Given the description of an element on the screen output the (x, y) to click on. 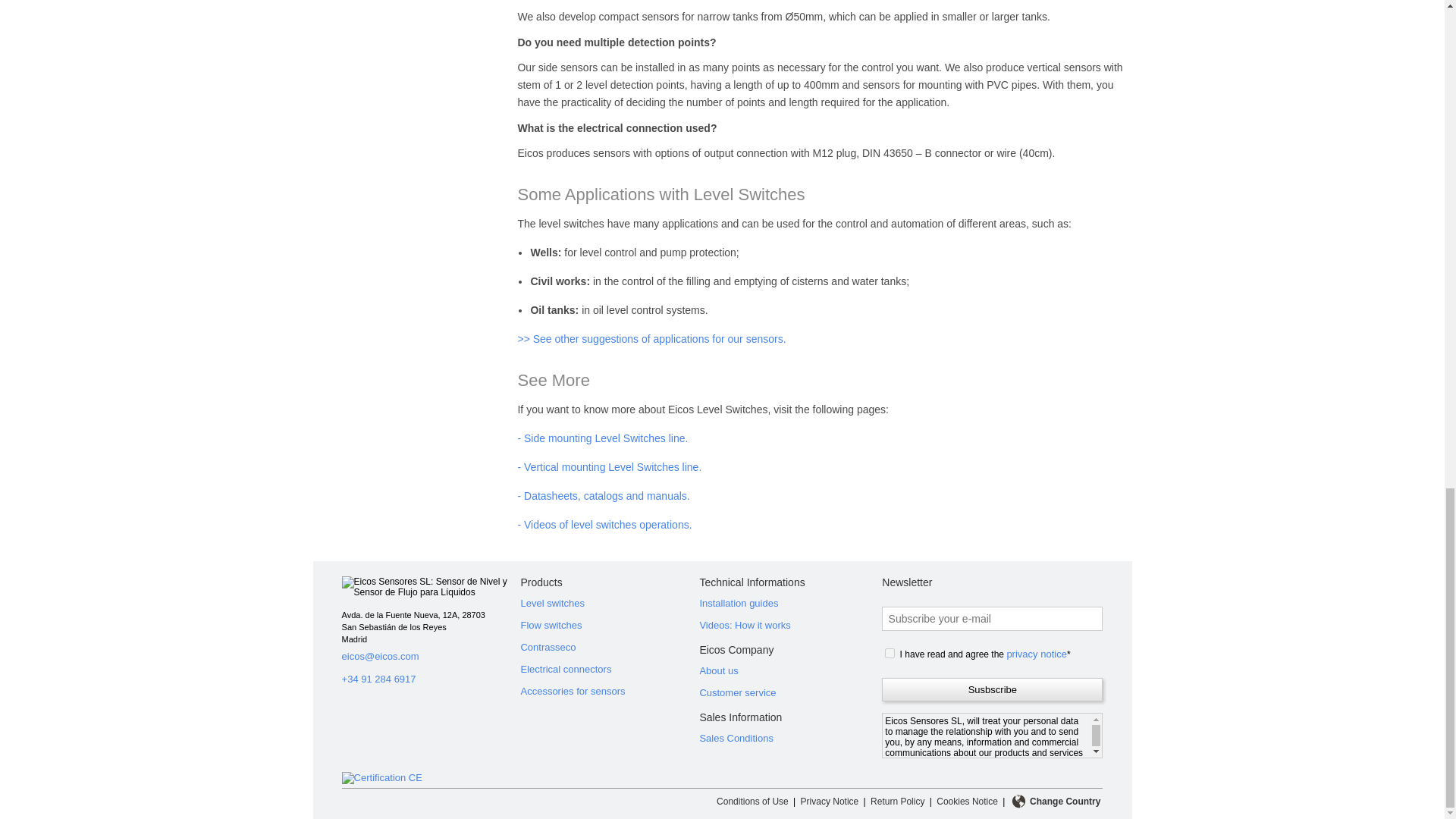
Read the privacy notice (1035, 653)
Level switches (608, 603)
- Datasheets, catalogs and manuals. (602, 495)
Susbscribe (992, 689)
- Side mounting Level Switches line. (601, 438)
Susbscribe (992, 689)
privacy notice (1035, 653)
S (890, 653)
Electrical connectors (608, 669)
Contrasseco (608, 647)
- Videos of level switches operations. (603, 524)
Flow switches (608, 625)
Click and check models and prices of level switches (608, 603)
